Given the description of an element on the screen output the (x, y) to click on. 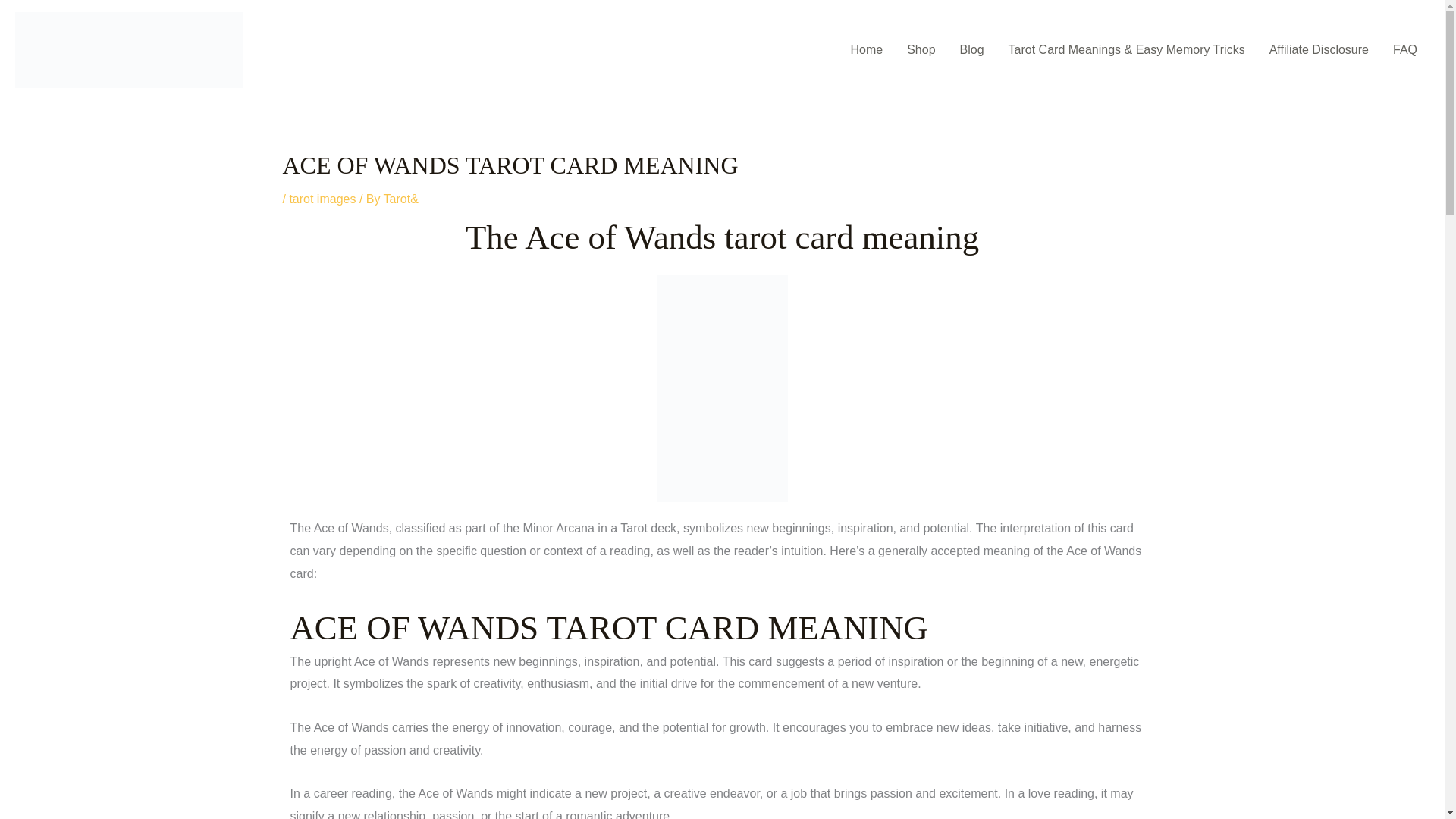
Shop (921, 49)
Home (866, 49)
FAQ (1404, 49)
Blog (971, 49)
Affiliate Disclosure (1318, 49)
tarot images (321, 198)
